Given the description of an element on the screen output the (x, y) to click on. 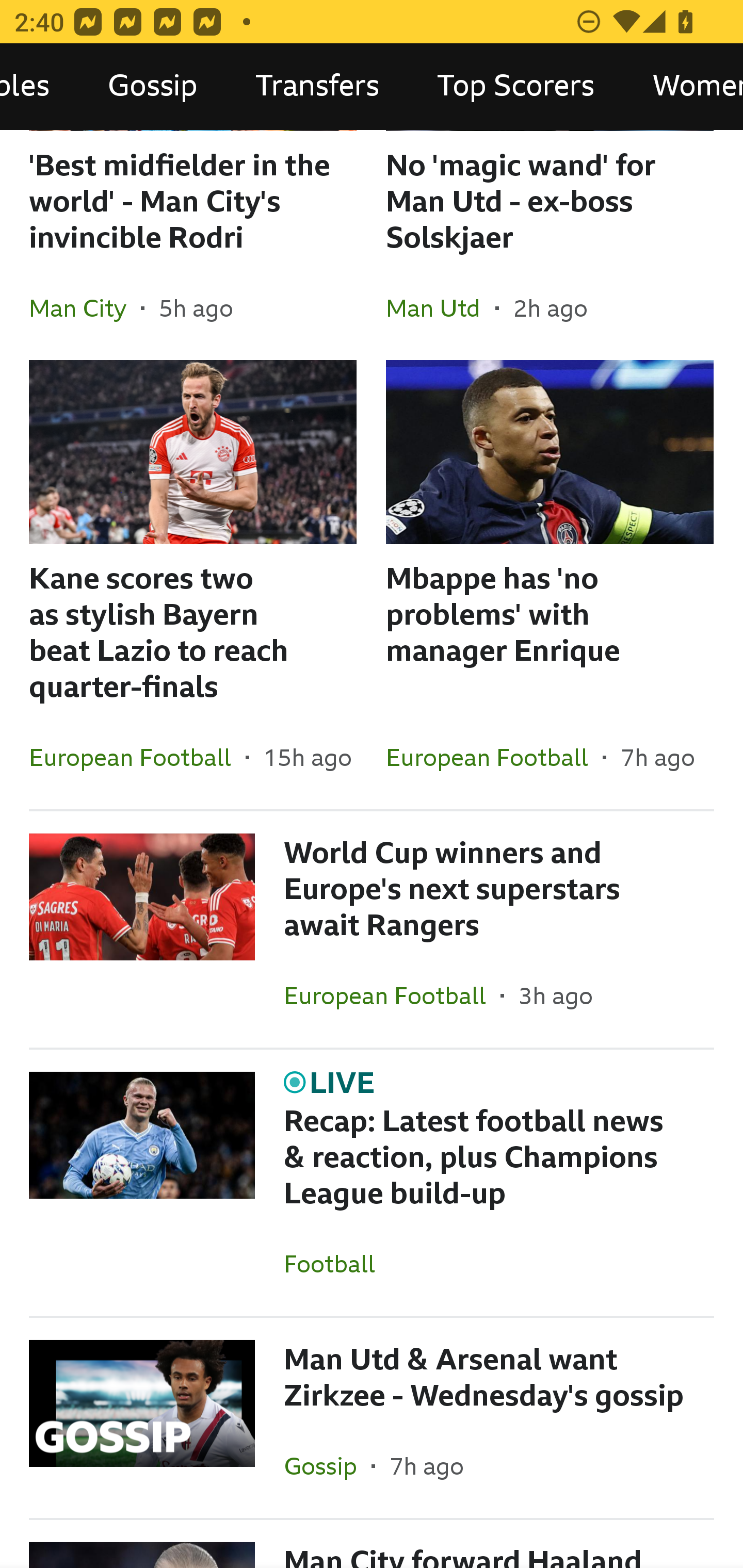
Gossip (152, 86)
Transfers (316, 86)
Top Scorers (515, 86)
Women (683, 86)
Man City In the section Man City (84, 307)
Man Utd In the section Man Utd (440, 307)
European Football In the section European Football (136, 757)
European Football In the section European Football (493, 757)
European Football In the section European Football (391, 995)
